Given the description of an element on the screen output the (x, y) to click on. 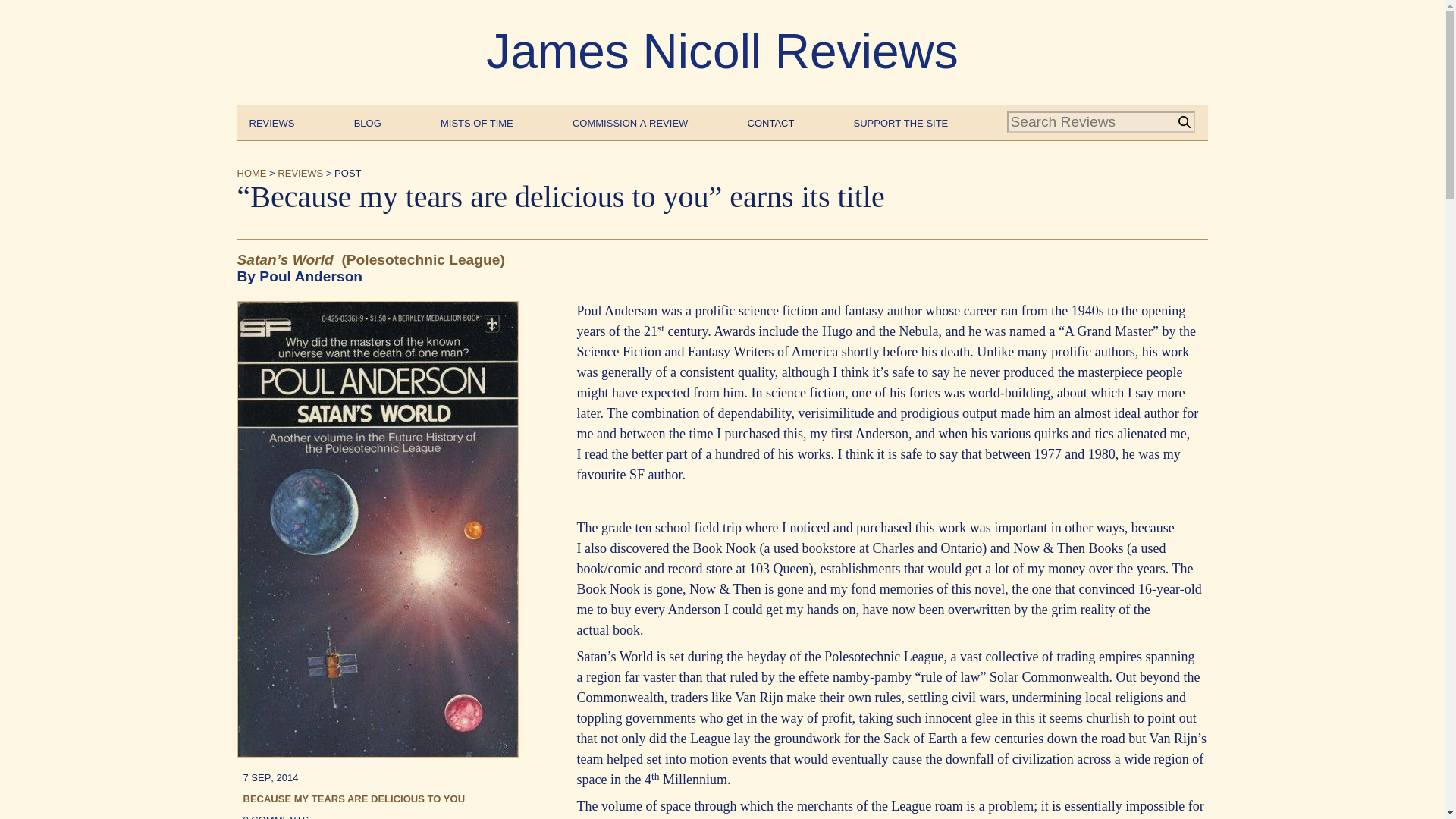
Support the Site (901, 121)
Blog (367, 121)
Home (250, 171)
Mists of Time (477, 121)
Reviews (271, 121)
James Nicoll Reviews (722, 51)
Reviews (300, 171)
Commission a Review (629, 121)
Because My Tears Are Delicious To You (353, 797)
